Given the description of an element on the screen output the (x, y) to click on. 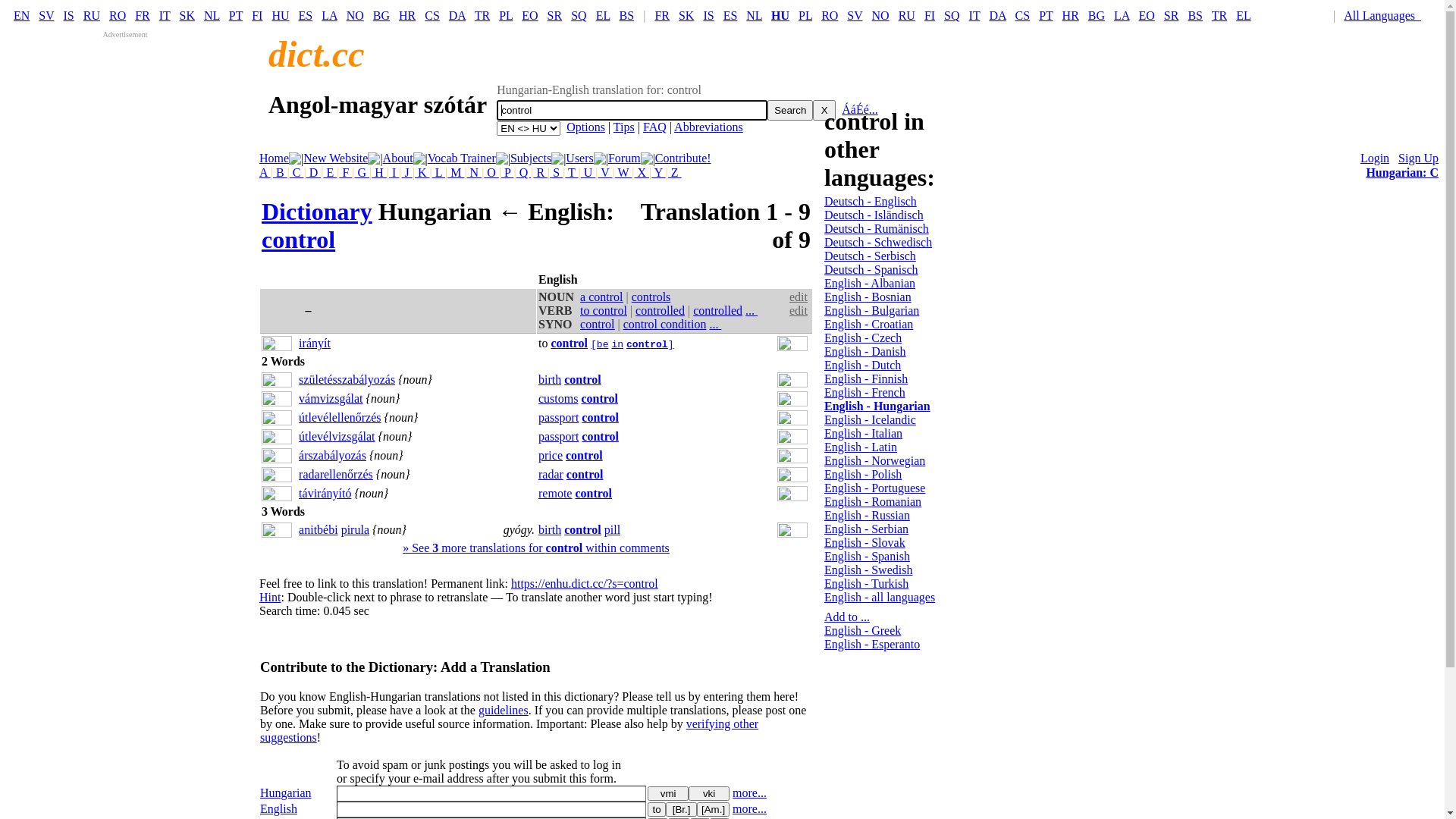
Contribute to the Dictionary: Add a Translation Element type: text (405, 666)
M Element type: text (455, 172)
E Element type: text (329, 172)
X Element type: text (823, 110)
CS Element type: text (431, 15)
SQ Element type: text (578, 15)
English - Icelandic Element type: text (870, 419)
English - Spanish Element type: text (867, 555)
A Element type: text (264, 172)
valami Element type: hover (667, 793)
NO Element type: text (355, 15)
PL Element type: text (805, 15)
FR Element type: text (142, 15)
D Element type: text (313, 172)
U Element type: text (588, 172)
English - Danish Element type: text (865, 351)
SR Element type: text (554, 15)
[Am.] Element type: text (712, 809)
Hungarian Element type: text (285, 792)
English - Hungarian Element type: text (877, 405)
Hungarian: C Element type: text (1401, 172)
SQ Element type: text (951, 15)
I Element type: text (393, 172)
English Element type: text (278, 808)
edit Element type: text (798, 296)
English - Albanian Element type: text (869, 282)
RU Element type: text (906, 15)
IT Element type: text (164, 15)
Forum Element type: text (624, 157)
Z Element type: text (674, 172)
English - Russian Element type: text (867, 514)
...  Element type: text (718, 323)
N Element type: text (474, 172)
English - Greek Element type: text (862, 630)
control Element type: text (592, 492)
H Element type: text (378, 172)
SK Element type: text (685, 15)
Hungarian Element type: text (326, 279)
English - Esperanto Element type: text (871, 643)
Contribute! Element type: text (683, 157)
SR Element type: text (1171, 15)
English - Finnish Element type: text (865, 378)
Deutsch - Englisch Element type: text (870, 200)
vki Element type: text (708, 793)
English - Swedish Element type: text (868, 569)
RO Element type: text (829, 15)
EN Element type: text (21, 15)
control Element type: text (584, 473)
English - Italian Element type: text (863, 432)
NO Element type: text (880, 15)
Vocab Trainer Element type: text (461, 157)
customs Element type: text (557, 398)
control Element type: text (582, 529)
DA Element type: text (456, 15)
HR Element type: text (406, 15)
TR Element type: text (481, 15)
birth Element type: text (549, 529)
Abbreviations Element type: text (708, 126)
J Element type: text (406, 172)
English - Portuguese Element type: text (874, 487)
Subjects Element type: text (530, 157)
IS Element type: text (68, 15)
Search Element type: text (789, 110)
Deutsch - Schwedisch Element type: text (877, 241)
Login Element type: text (1374, 157)
PL Element type: text (505, 15)
English - Slovak Element type: text (864, 542)
EO Element type: text (529, 15)
NL Element type: text (754, 15)
English - all languages Element type: text (879, 596)
SK Element type: text (186, 15)
New Website Element type: text (335, 157)
R Element type: text (540, 172)
Add to ... Element type: text (846, 616)
Dictionary Element type: text (316, 211)
SV Element type: text (854, 15)
EL Element type: text (603, 15)
ES Element type: text (730, 15)
vmi Element type: text (667, 793)
English - French Element type: text (864, 391)
English - Bosnian Element type: text (867, 296)
Options Element type: text (585, 126)
English - Serbian Element type: text (866, 528)
P Element type: text (507, 172)
PT Element type: text (235, 15)
(esp.) American English Element type: hover (712, 809)
remote Element type: text (554, 492)
[be Element type: text (599, 342)
English - Czech Element type: text (862, 337)
more... Element type: text (749, 808)
RO Element type: text (117, 15)
BG Element type: text (381, 15)
English - Polish Element type: text (862, 473)
FI Element type: text (256, 15)
English - Bulgarian Element type: text (871, 310)
control Element type: text (298, 239)
pill Element type: text (612, 529)
FR Element type: text (661, 15)
valaki Element type: hover (708, 793)
control Element type: text (582, 379)
a control Element type: text (601, 296)
TR Element type: text (1218, 15)
...  Element type: text (754, 310)
controlled Element type: text (717, 310)
BS Element type: text (626, 15)
birth Element type: text (549, 379)
English - Croatian Element type: text (868, 323)
EO Element type: text (1146, 15)
pirula Element type: text (355, 529)
C Element type: text (296, 172)
Y Element type: text (658, 172)
All Languages  Element type: text (1385, 15)
control Element type: text (568, 342)
to control Element type: text (603, 310)
control Element type: text (597, 323)
SV Element type: text (45, 15)
Home Element type: text (273, 157)
(esp.) British English Element type: hover (680, 809)
control] Element type: text (649, 342)
X Element type: text (641, 172)
W Element type: text (623, 172)
Hint Element type: text (269, 596)
control Element type: text (583, 454)
IS Element type: text (707, 15)
CS Element type: text (1022, 15)
passport Element type: text (558, 417)
radar Element type: text (550, 473)
BS Element type: text (1194, 15)
controlled Element type: text (659, 310)
English - Romanian Element type: text (872, 501)
Users Element type: text (579, 157)
control Element type: text (599, 435)
[Br.] Element type: text (680, 809)
DA Element type: text (996, 15)
control condition Element type: text (664, 323)
Q Element type: text (523, 172)
PT Element type: text (1045, 15)
IT Element type: text (974, 15)
B Element type: text (280, 172)
HU Element type: text (780, 15)
more... Element type: text (749, 792)
English - Latin Element type: text (860, 446)
Sign Up Element type: text (1418, 157)
Deutsch - Spanisch Element type: text (871, 269)
O Element type: text (490, 172)
for verbs Element type: hover (656, 809)
L Element type: text (438, 172)
BG Element type: text (1096, 15)
K Element type: text (421, 172)
controls Element type: text (651, 296)
in Element type: text (617, 342)
HU Element type: text (279, 15)
F Element type: text (344, 172)
RU Element type: text (91, 15)
English - Turkish Element type: text (866, 583)
NL Element type: text (211, 15)
V Element type: text (605, 172)
https://enhu.dict.cc/?s=control Element type: text (584, 583)
HR Element type: text (1070, 15)
LA Element type: text (1121, 15)
G Element type: text (361, 172)
Tips Element type: text (623, 126)
ES Element type: text (305, 15)
dict.cc Element type: text (316, 54)
S Element type: text (555, 172)
passport Element type: text (558, 435)
price Element type: text (550, 454)
English - Norwegian Element type: text (874, 460)
control Element type: text (599, 398)
edit Element type: text (798, 310)
English - Dutch Element type: text (862, 364)
T Element type: text (570, 172)
EL Element type: text (1243, 15)
FI Element type: text (929, 15)
FAQ Element type: text (654, 126)
verifying other suggestions Element type: text (509, 730)
to Element type: text (656, 809)
Deutsch - Serbisch Element type: text (870, 255)
control Element type: text (599, 417)
LA Element type: text (328, 15)
guidelines Element type: text (503, 709)
About Element type: text (397, 157)
